Given the description of an element on the screen output the (x, y) to click on. 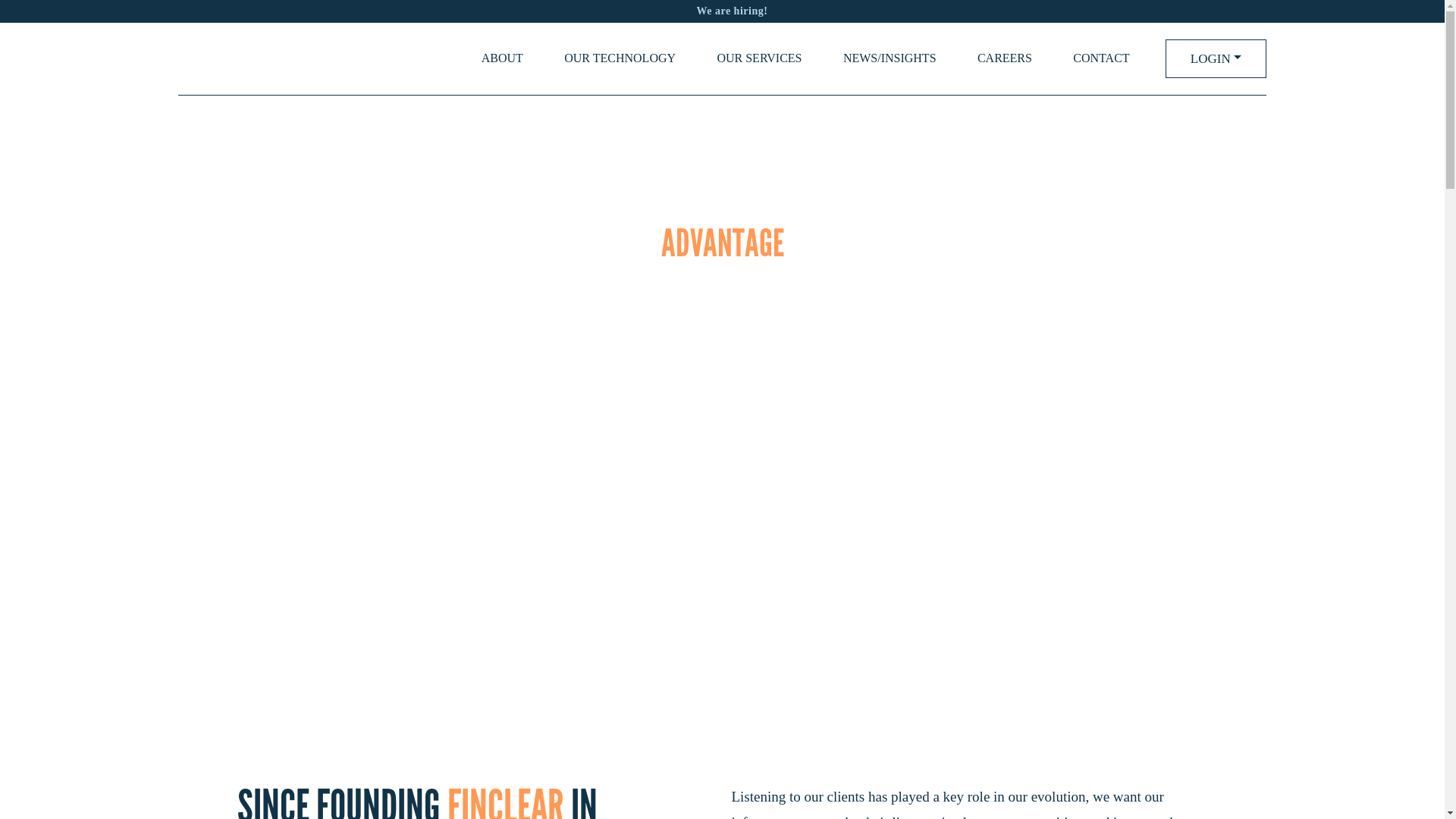
Learn more about FinClear Element type: text (722, 394)
LOGIN Element type: text (1215, 58)
We are hiring! Element type: text (722, 11)
CAREERS Element type: text (1004, 58)
CONTACT Element type: text (1101, 58)
OUR TECHNOLOGY Element type: text (619, 58)
ABOUT Element type: text (502, 58)
NEWS/INSIGHTS Element type: text (889, 58)
OUR SERVICES Element type: text (759, 58)
